Given the description of an element on the screen output the (x, y) to click on. 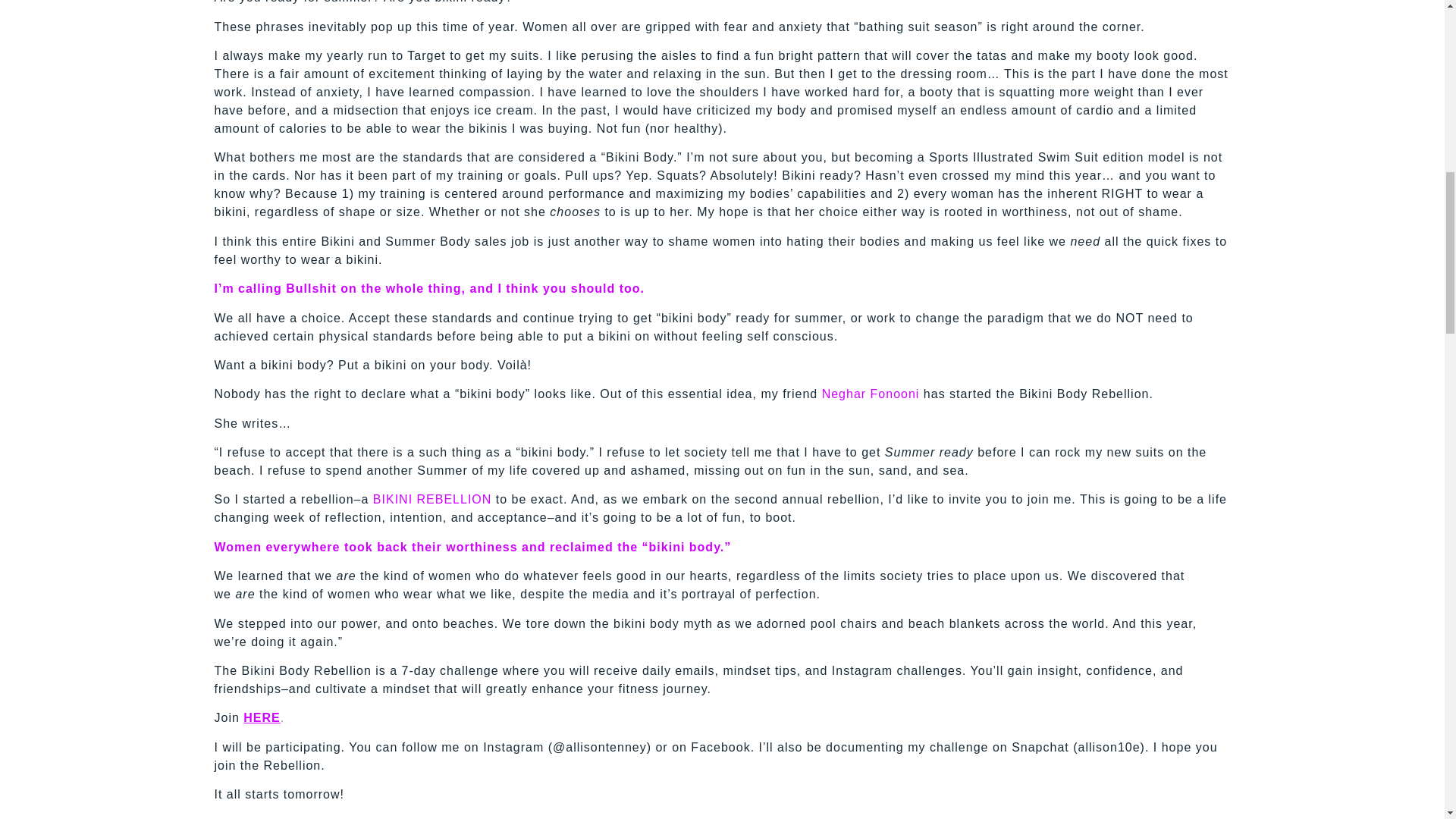
HERE. (263, 717)
BIKINI REBELLION (432, 499)
Neghar Fonooni (871, 393)
